Given the description of an element on the screen output the (x, y) to click on. 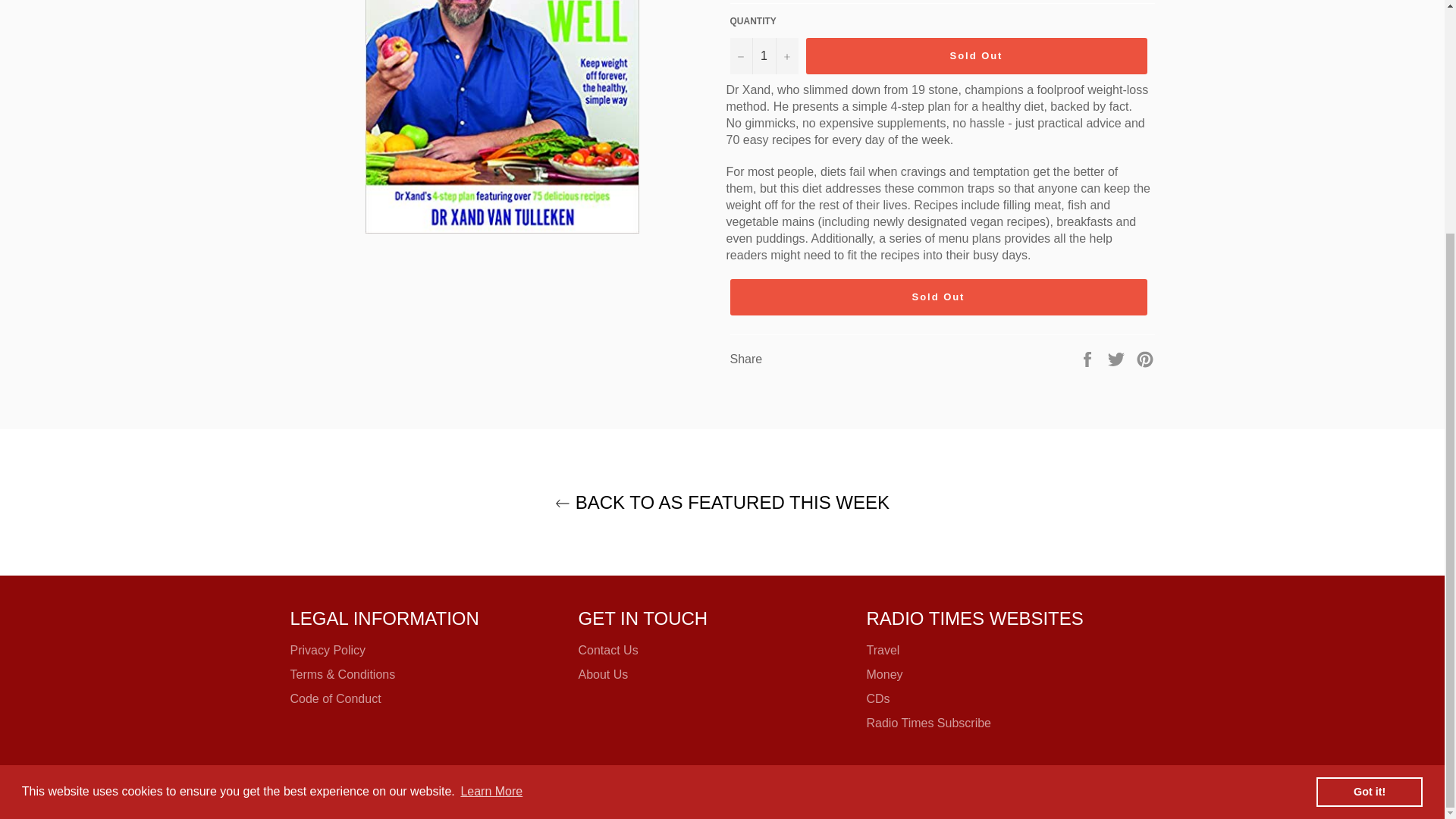
Got it! (1369, 474)
Tweet on Twitter (1117, 358)
Learn More (491, 474)
Pin on Pinterest (1144, 358)
1 (763, 55)
Share on Facebook (1088, 358)
